Given the description of an element on the screen output the (x, y) to click on. 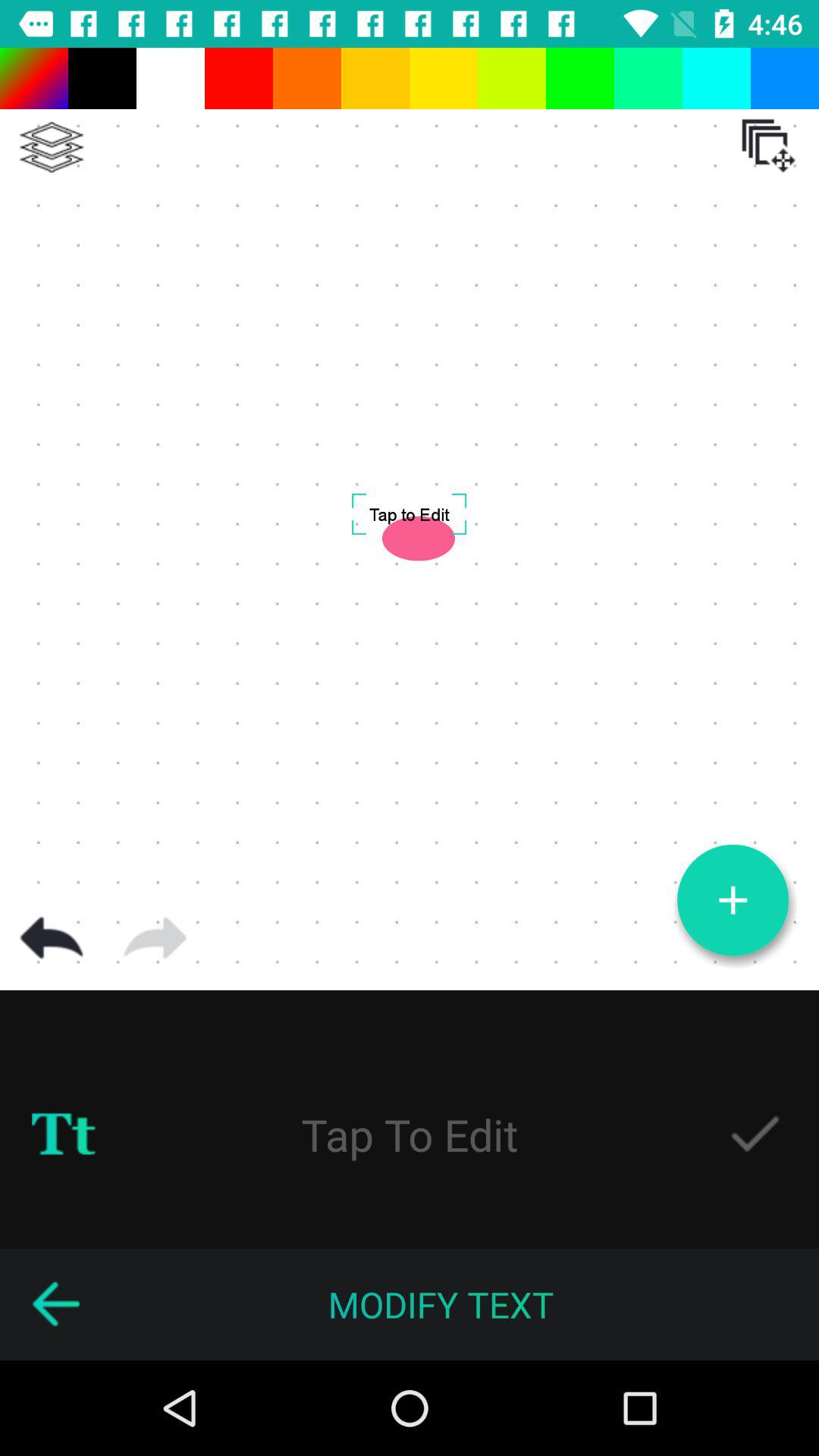
approve edit (755, 1134)
